Given the description of an element on the screen output the (x, y) to click on. 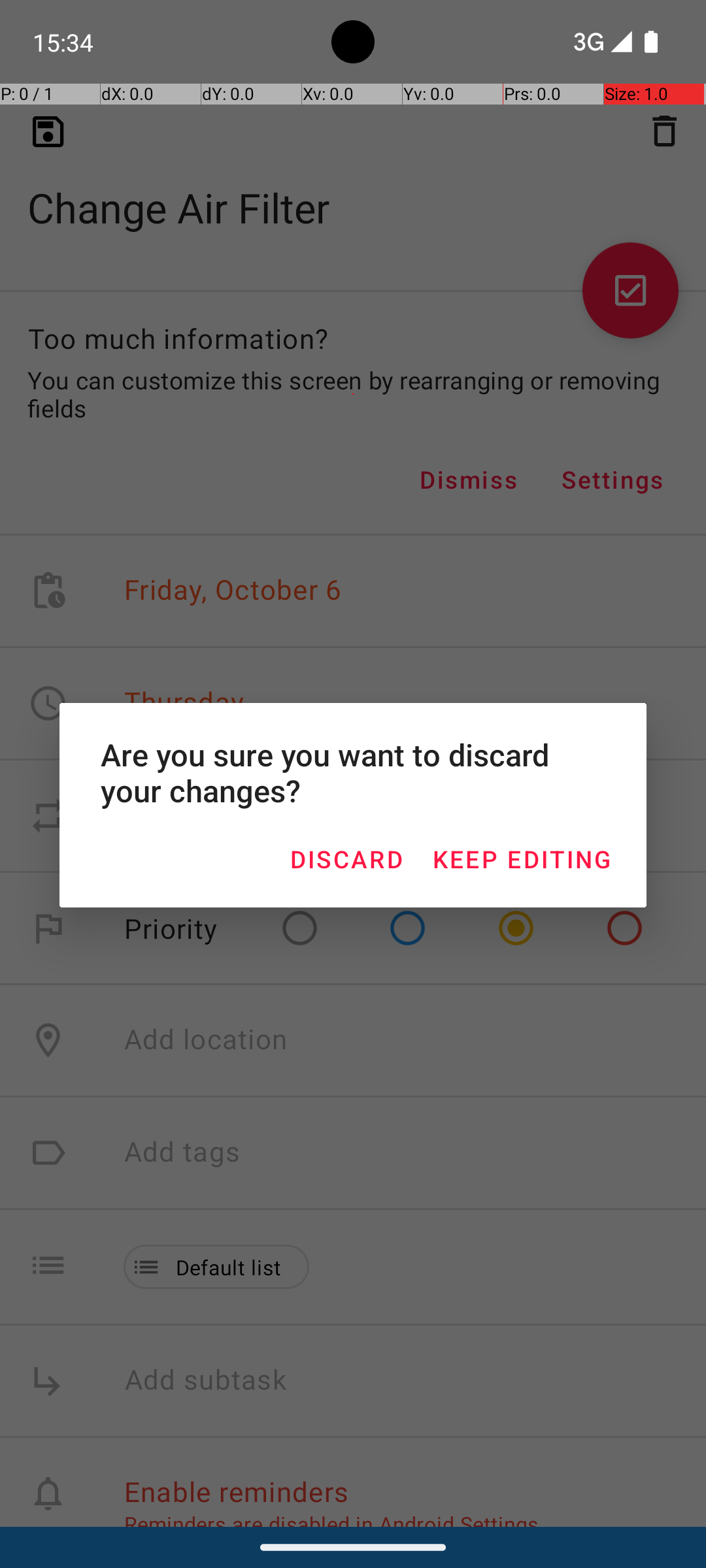
Are you sure you want to discard your changes? Element type: android.widget.TextView (352, 771)
DISCARD Element type: android.widget.Button (345, 858)
KEEP EDITING Element type: android.widget.Button (521, 858)
